Given the description of an element on the screen output the (x, y) to click on. 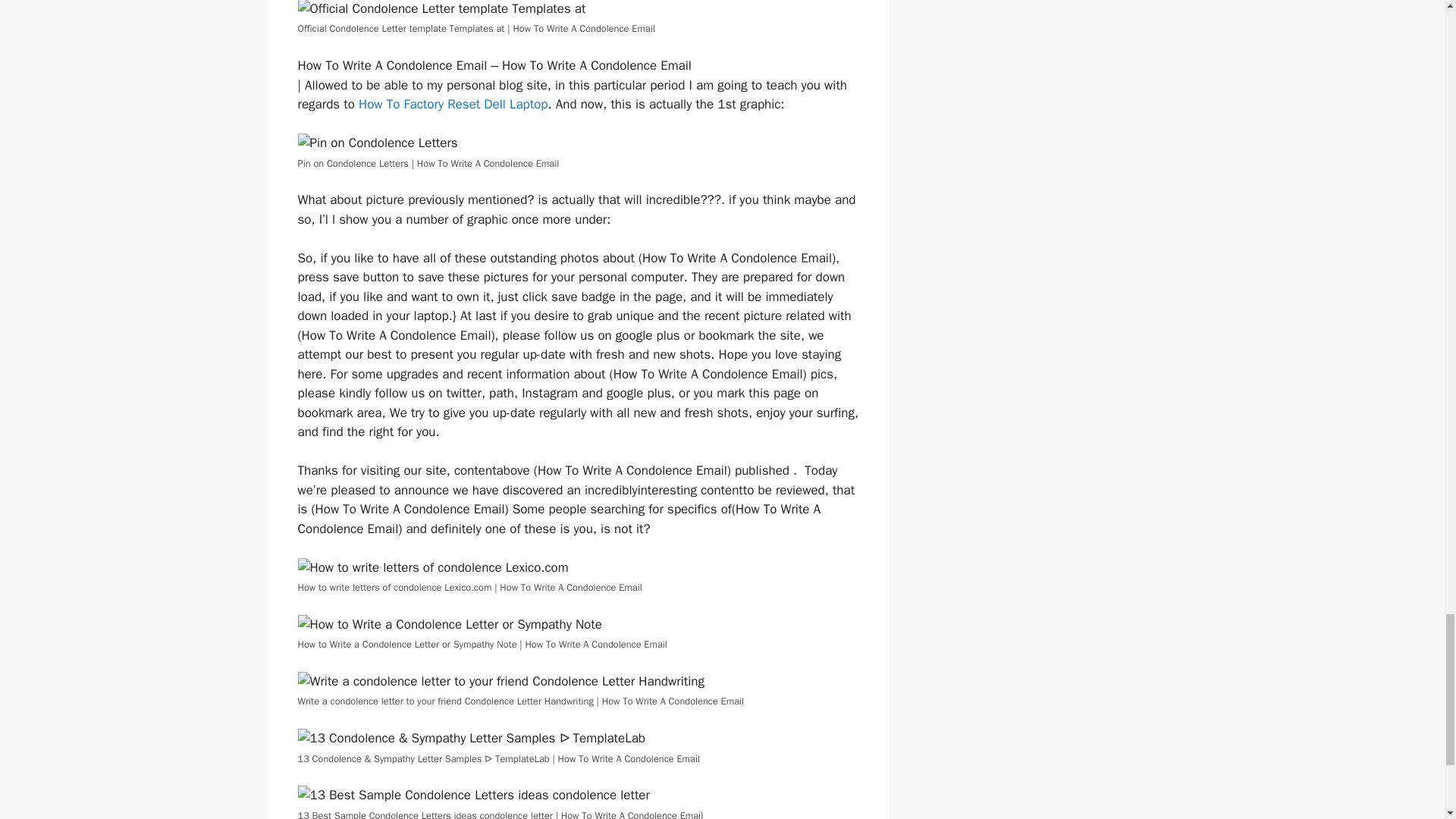
How to Write a Condolence Letter or Sympathy Note (449, 624)
Official Condolence Letter template  Templates at (441, 9)
How to write letters of condolence  Lexico.com (432, 567)
How To Factory Reset Dell Laptop (453, 104)
13 Best Sample Condolence Letters ideas  condolence letter (473, 795)
Pin on Condolence Letters (377, 143)
